Given the description of an element on the screen output the (x, y) to click on. 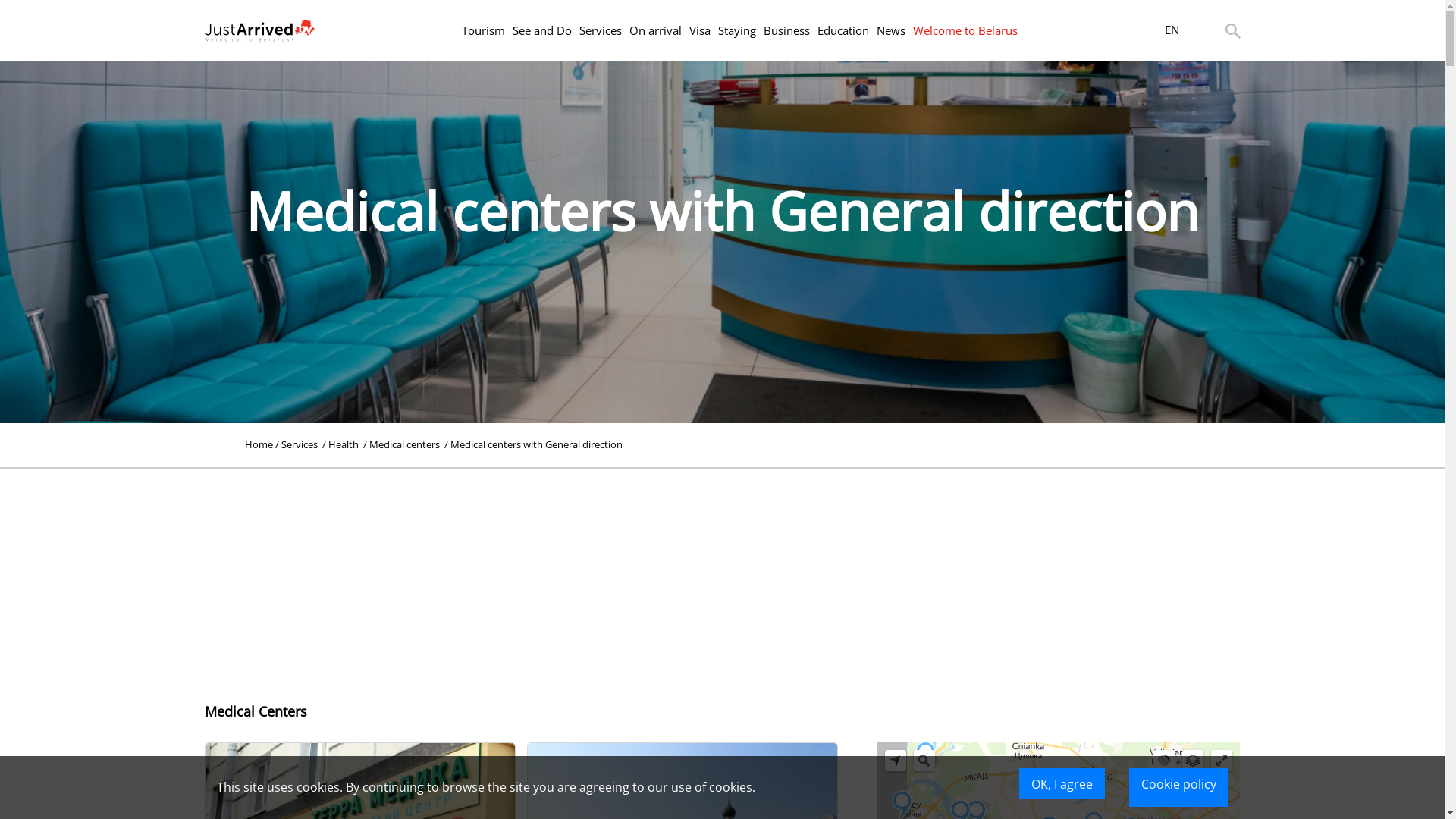
News Element type: text (890, 30)
Cookie policy Element type: text (1177, 787)
 Medical centers   Element type: text (405, 444)
Staying Element type: text (736, 30)
On arrival Element type: text (655, 30)
 Services   Element type: text (300, 444)
Services Element type: text (600, 30)
Education Element type: text (843, 30)
Detect your current location Element type: hover (895, 760)
Business Element type: text (785, 30)
 Home  Element type: text (258, 444)
Tourism Element type: text (482, 30)
Visa Element type: text (698, 30)
Welcome to Belarus Element type: text (965, 30)
 Health   Element type: text (344, 444)
Search Element type: hover (924, 760)
Advertisement Element type: hover (721, 574)
OK, I agree Element type: text (1061, 784)
See and Do Element type: text (541, 30)
